Given the description of an element on the screen output the (x, y) to click on. 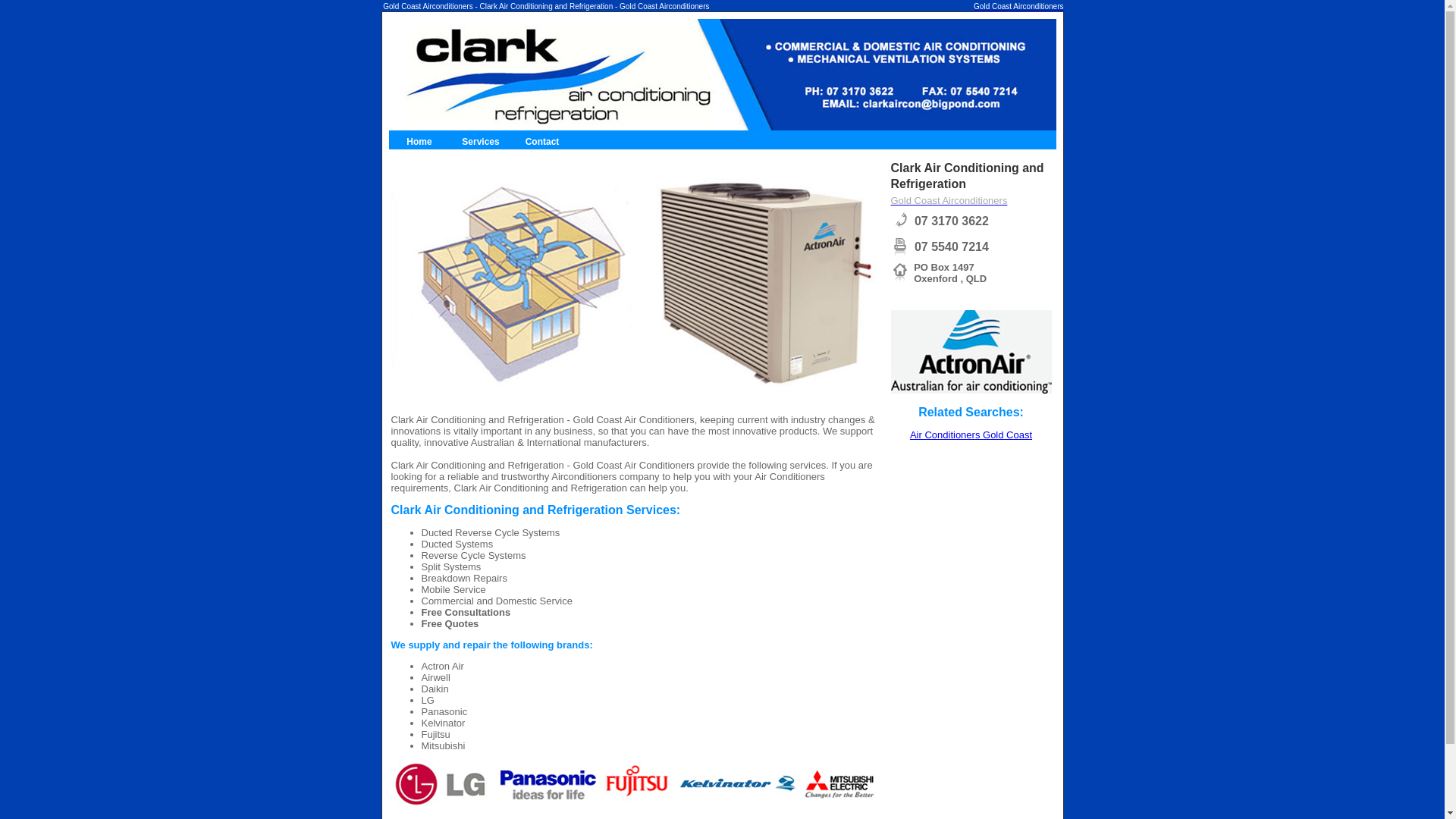
Air Conditioners Gold Coast Element type: text (971, 434)
Gold Coast Airconditioners Element type: text (948, 200)
Services Element type: text (479, 141)
Contact Element type: text (542, 141)
Home Element type: text (418, 141)
Gold Coast Airconditioners Element type: text (1018, 5)
